Given the description of an element on the screen output the (x, y) to click on. 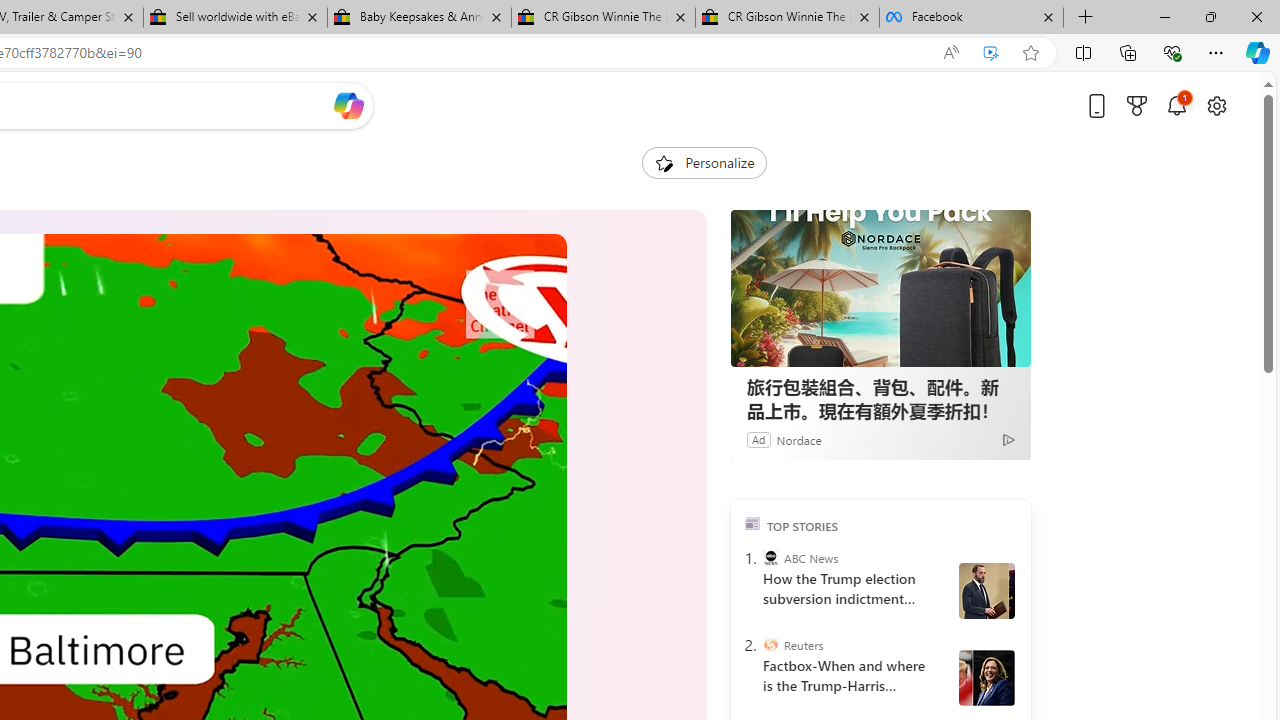
Microsoft rewards (1137, 105)
ABC News (770, 557)
Reuters (770, 645)
